Given the description of an element on the screen output the (x, y) to click on. 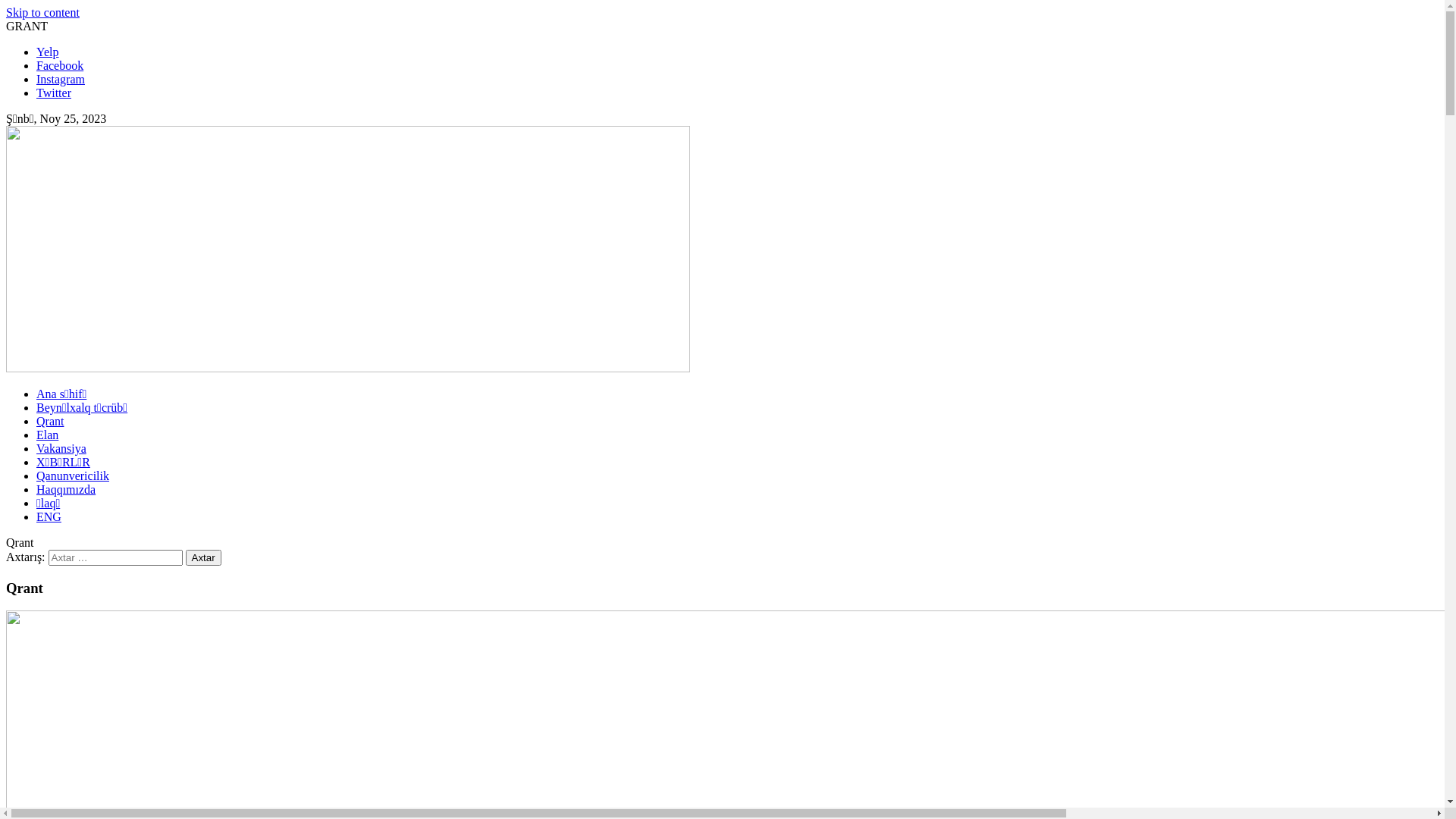
Instagram Element type: text (60, 78)
Axtar Element type: text (203, 557)
Elan Element type: text (47, 434)
Qrant Element type: text (49, 420)
Yelp Element type: text (47, 51)
Skip to content Element type: text (42, 12)
ENG Element type: text (48, 516)
Vakansiya Element type: text (61, 448)
Facebook Element type: text (59, 65)
Qanunvericilik Element type: text (72, 475)
Twitter Element type: text (53, 92)
